Given the description of an element on the screen output the (x, y) to click on. 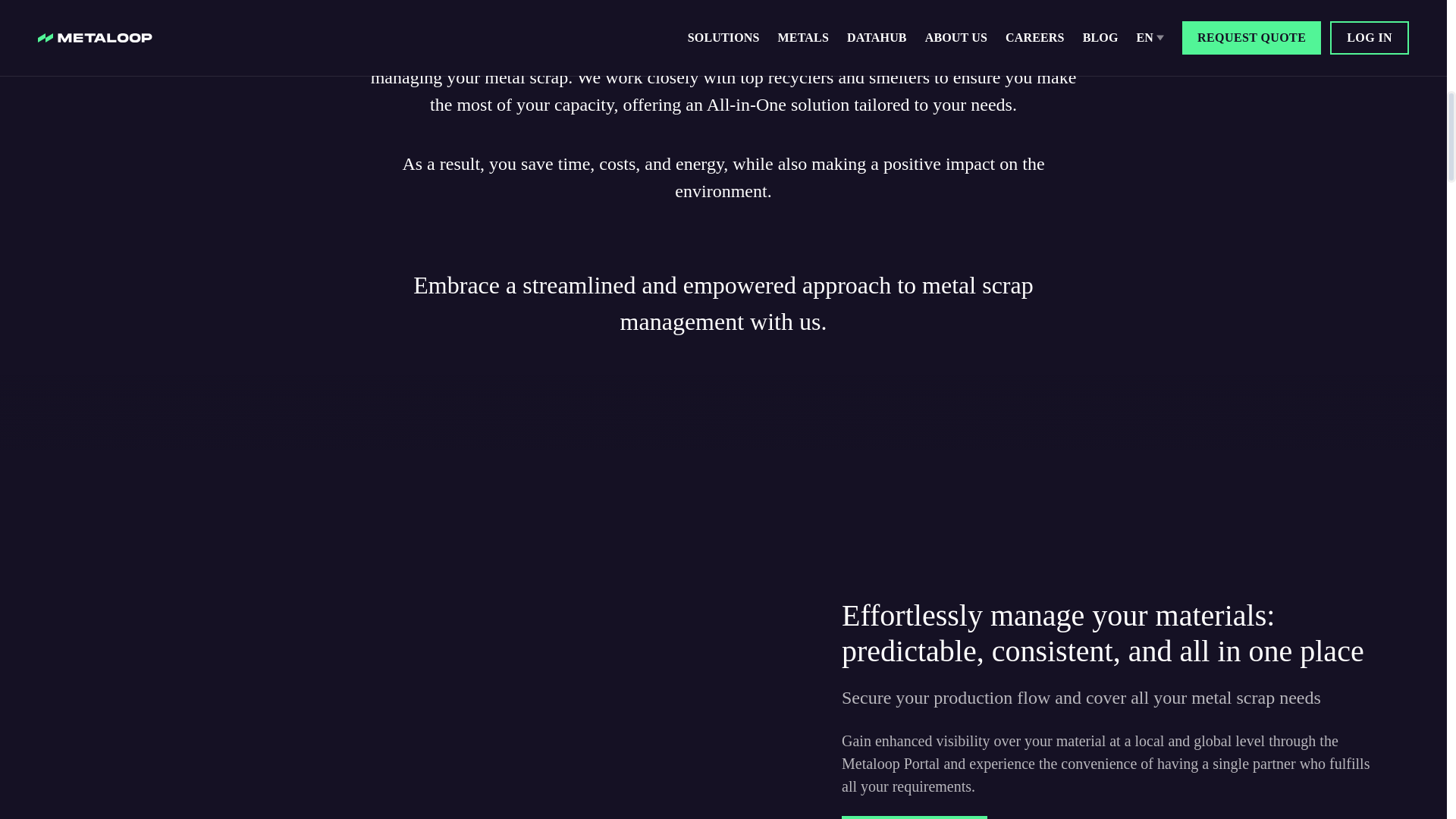
REQUEST QUOTE (914, 817)
